Given the description of an element on the screen output the (x, y) to click on. 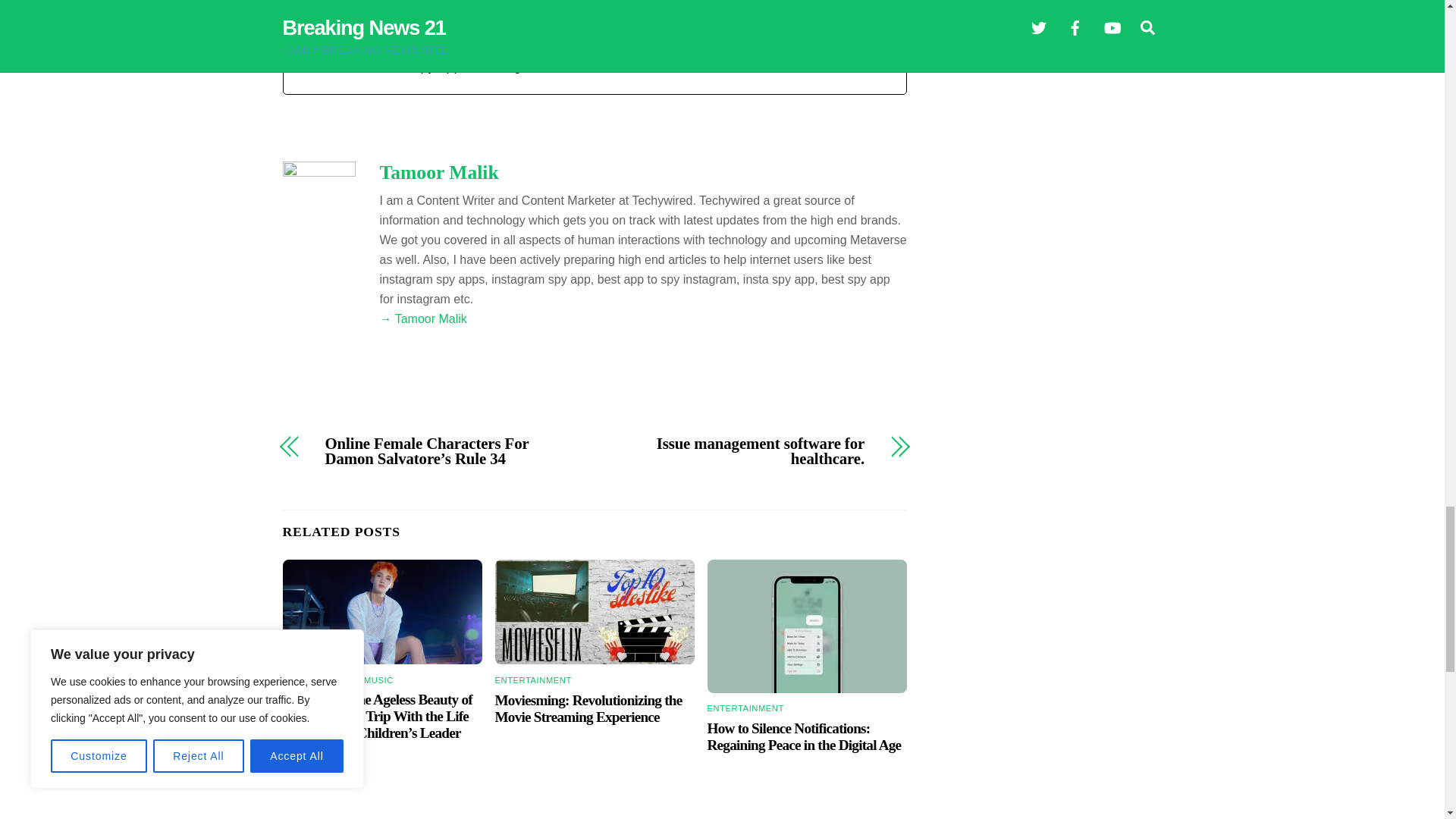
Moviesming: Revolutionizing the Movie Streaming Experience (595, 611)
See Full Bio (611, 66)
MUSIC (378, 679)
Tamoor Malik (437, 172)
ENTERTAINMENT (320, 679)
Issue management software for healthcare. (738, 451)
